Given the description of an element on the screen output the (x, y) to click on. 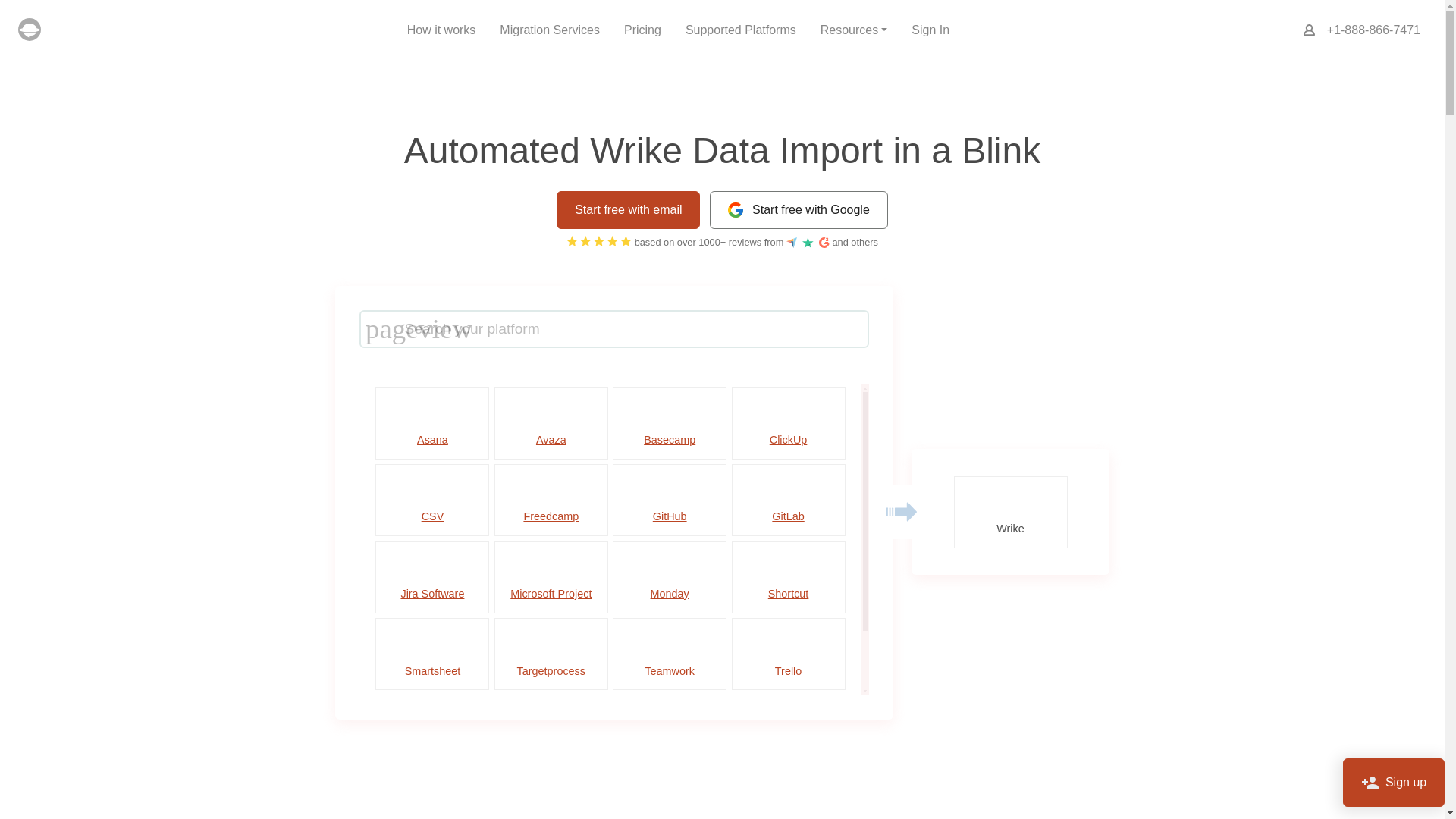
Asana (432, 422)
Trello (788, 654)
Start free with Google (799, 209)
Migration Services (549, 30)
Sign In (930, 30)
Start free with email (628, 209)
Jira Software (432, 577)
GitLab (788, 500)
Supported Platforms (740, 30)
Pricing (641, 30)
Freedcamp (551, 500)
Resources (853, 30)
GitHub (669, 500)
Targetprocess (551, 654)
CSV (432, 500)
